Given the description of an element on the screen output the (x, y) to click on. 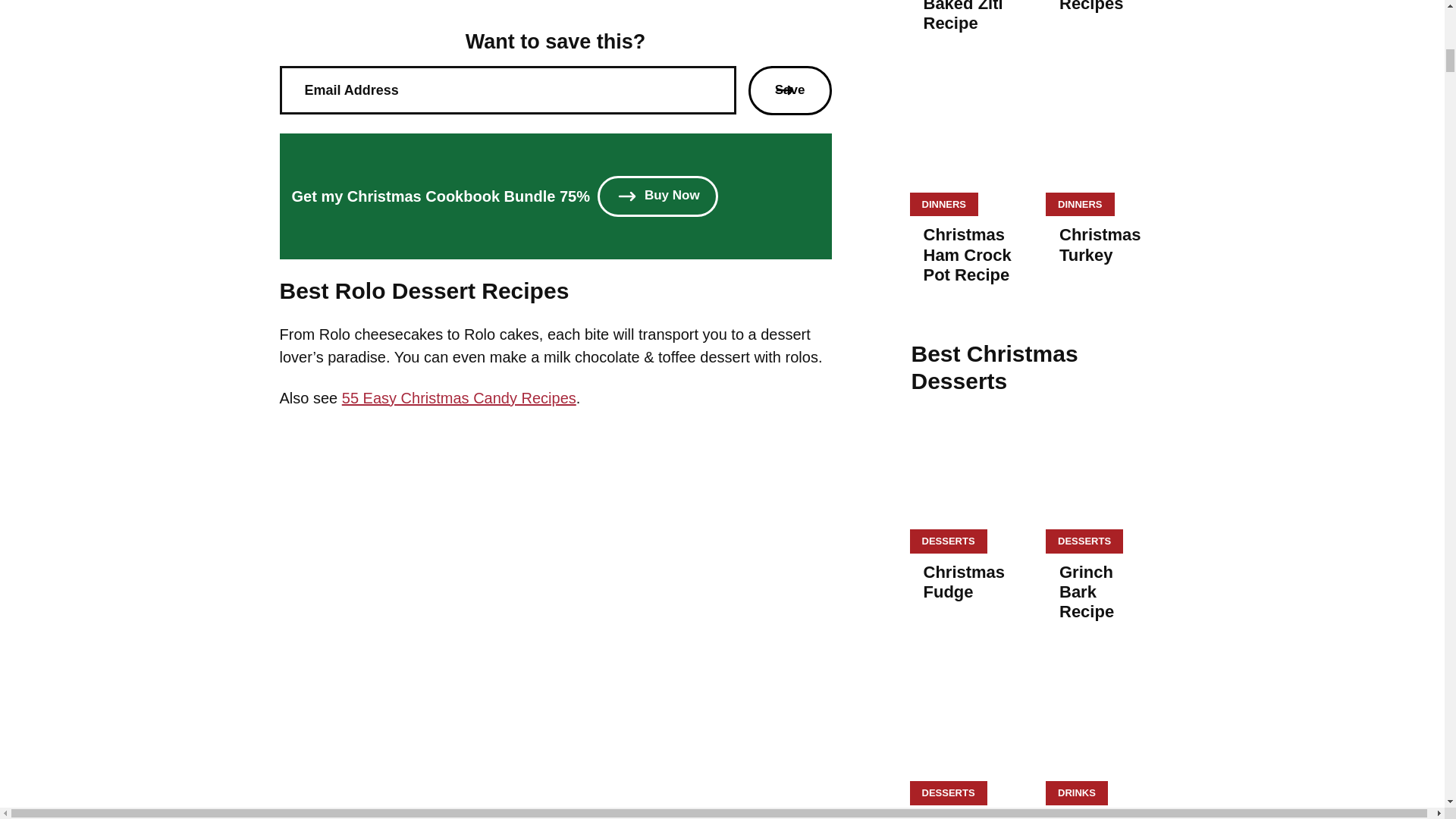
Save (789, 90)
55 Easy Christmas Candy Recipes (459, 397)
Buy Now (656, 196)
